Given the description of an element on the screen output the (x, y) to click on. 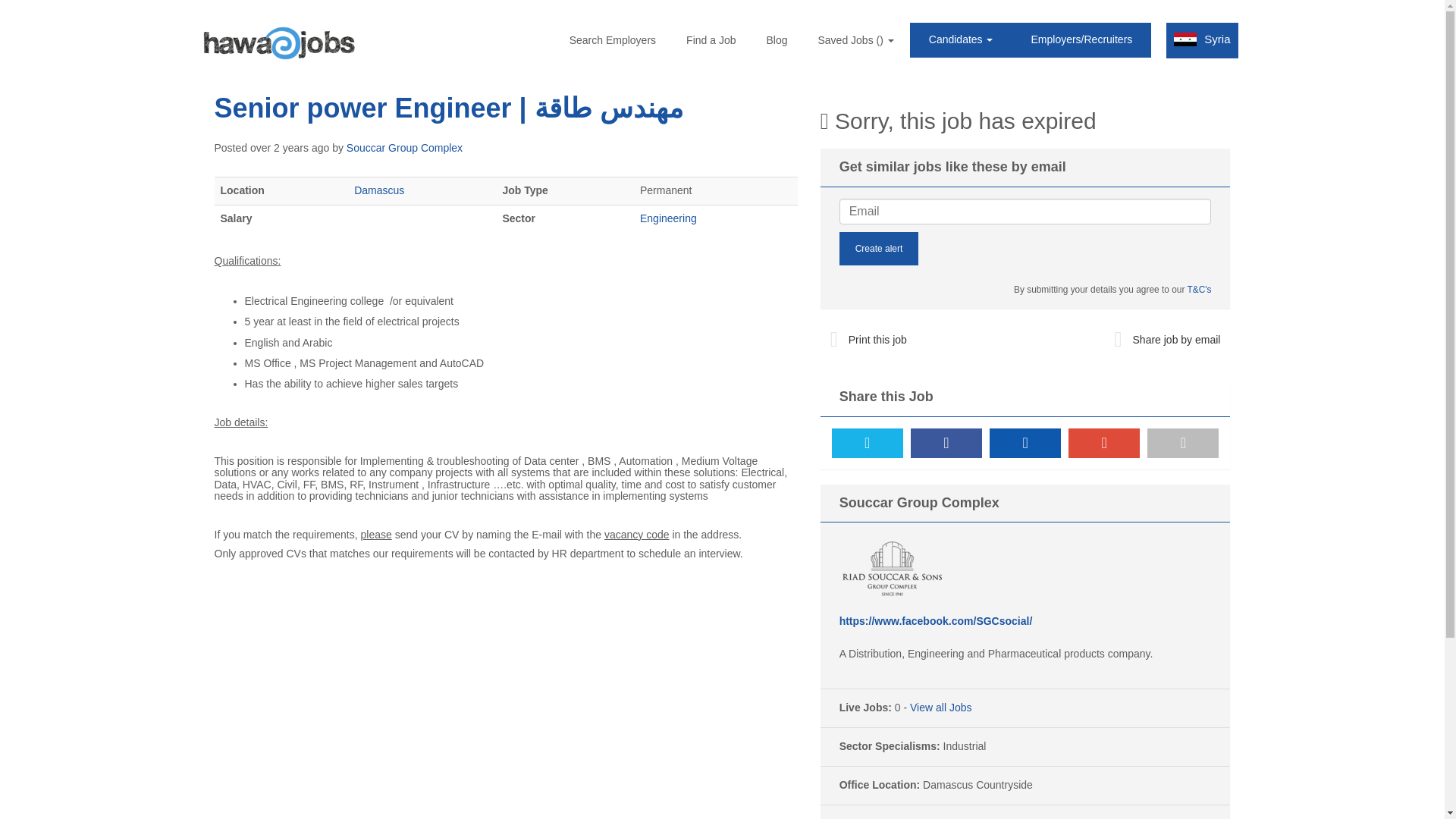
Email (1182, 442)
Damascus (378, 190)
Facebook (946, 442)
Twitter (866, 442)
Create alert (879, 248)
Go to the Homepage (279, 44)
Souccar Group Complex (404, 147)
Candidates (960, 39)
Search Employers (612, 39)
Hawa Jobs Syria (279, 44)
